Given the description of an element on the screen output the (x, y) to click on. 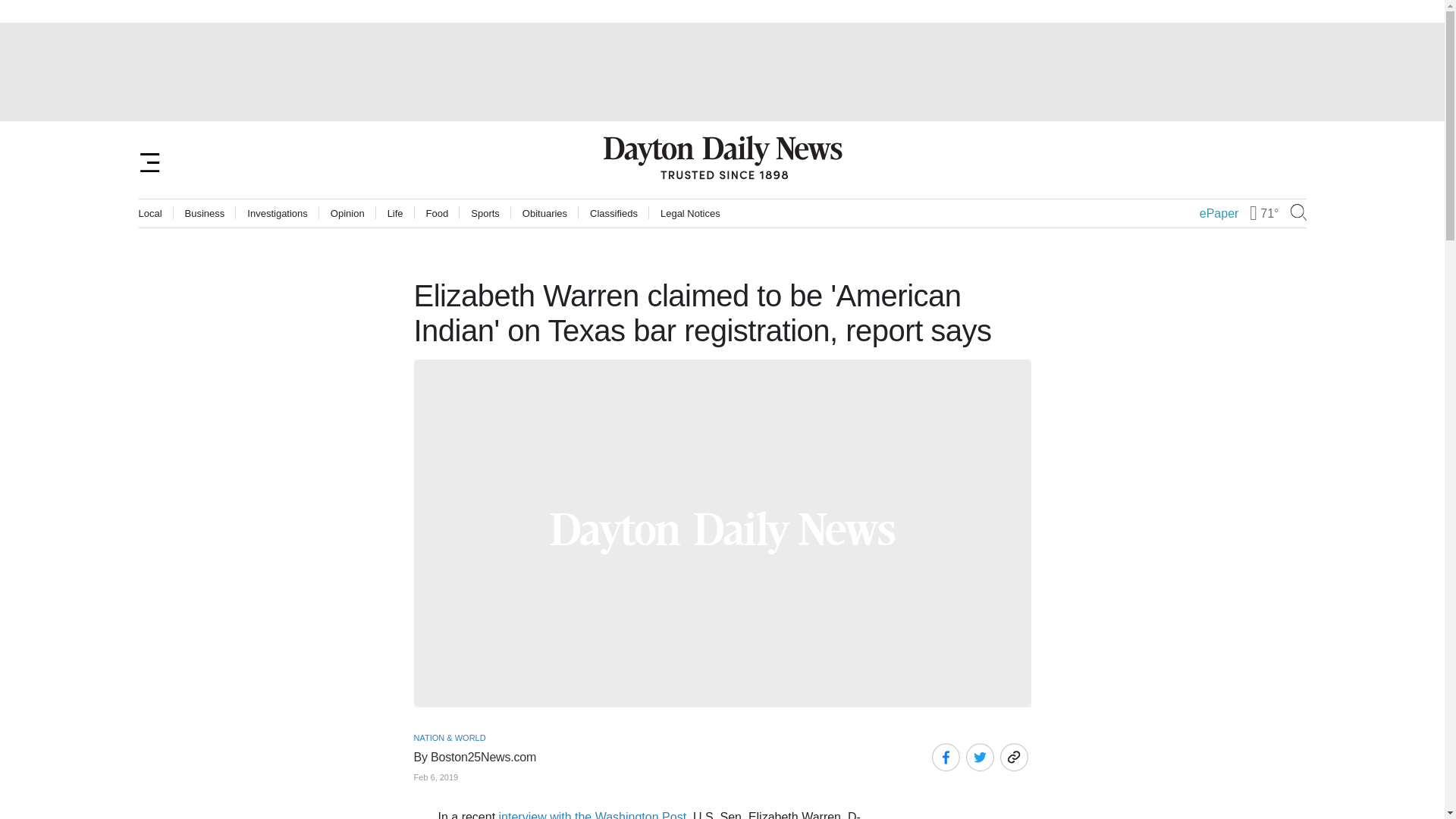
Business (204, 213)
Obituaries (544, 213)
Opinion (347, 213)
Sports (484, 213)
Local (149, 213)
Classifieds (613, 213)
Legal Notices (690, 213)
ePaper (1219, 214)
Life (395, 213)
Investigations (277, 213)
Food (437, 213)
